Given the description of an element on the screen output the (x, y) to click on. 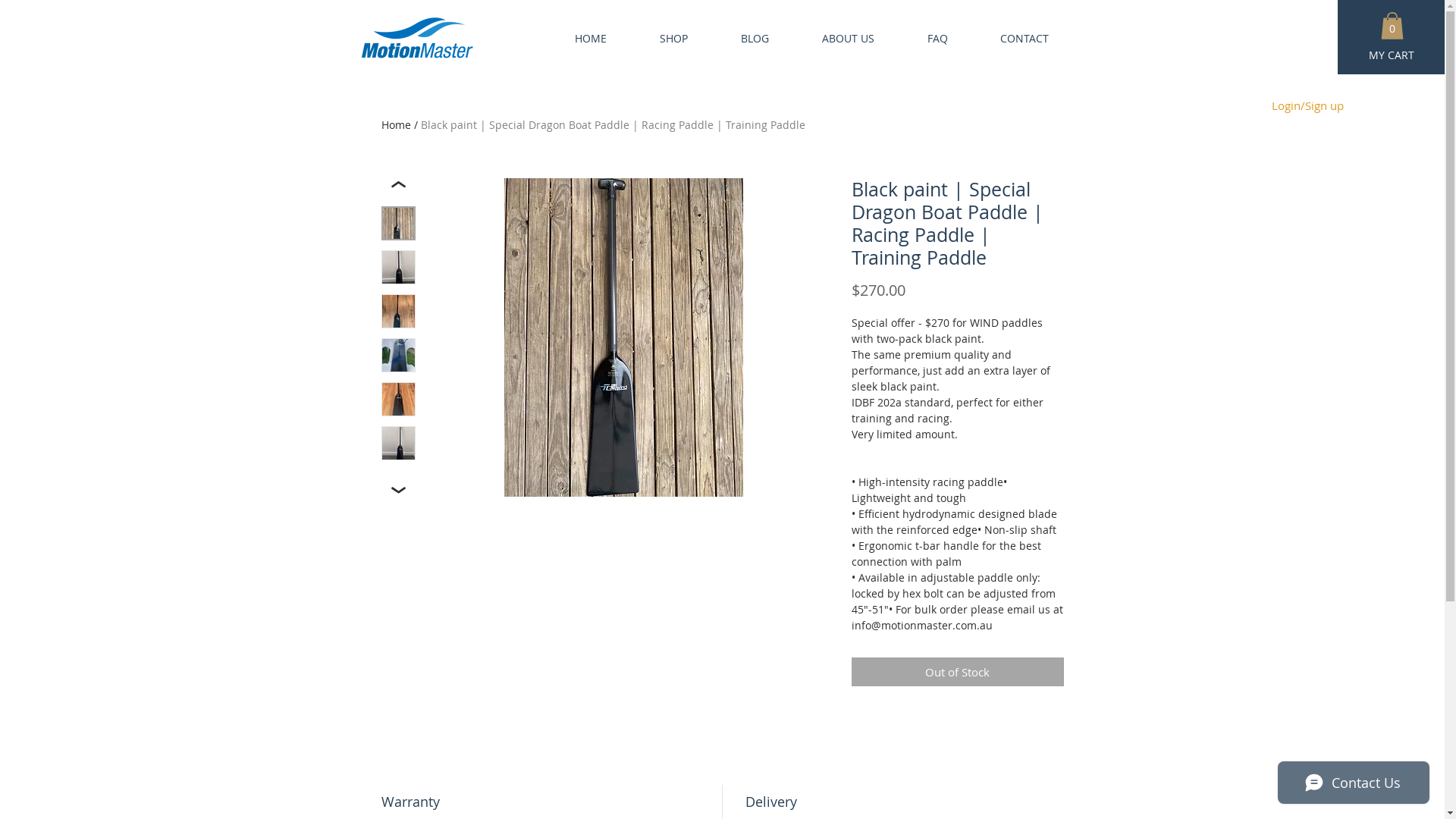
Out of Stock Element type: text (956, 672)
Home Element type: text (395, 124)
BLOG Element type: text (739, 37)
0 Element type: text (1391, 25)
SHOP Element type: text (657, 37)
ABOUT US Element type: text (831, 37)
CONTACT Element type: text (1008, 37)
HOME Element type: text (574, 37)
Login/Sign up Element type: text (1307, 104)
FAQ Element type: text (922, 37)
